Given the description of an element on the screen output the (x, y) to click on. 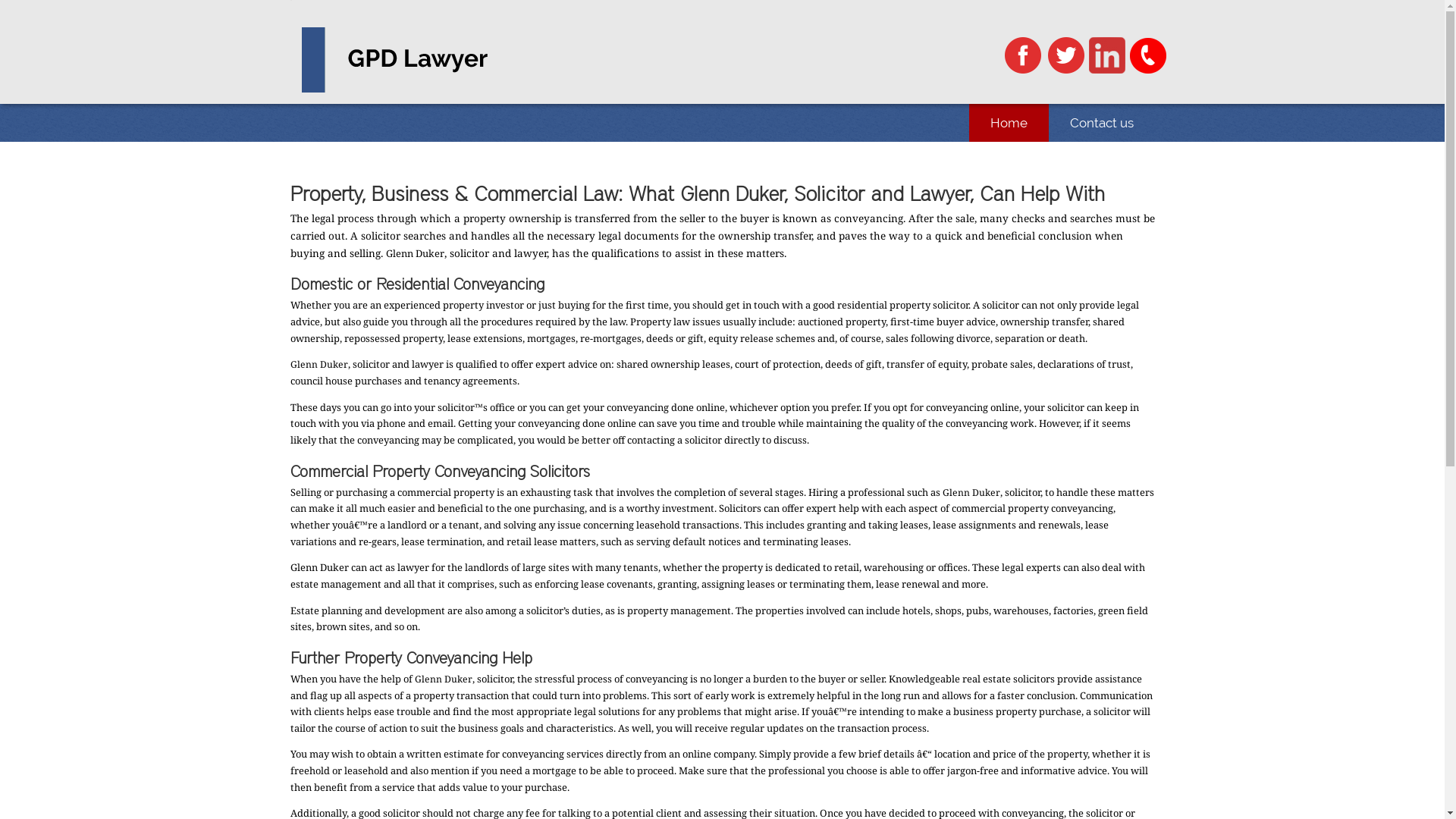
Glenn Duker Element type: text (414, 253)
Contact us Element type: text (1101, 122)
Glenn Duker Element type: text (318, 363)
GPD Lawyer Element type: hover (405, 59)
Glenn Duker Element type: text (970, 492)
Glenn Duker Element type: text (442, 678)
Home Element type: text (1008, 122)
